Given the description of an element on the screen output the (x, y) to click on. 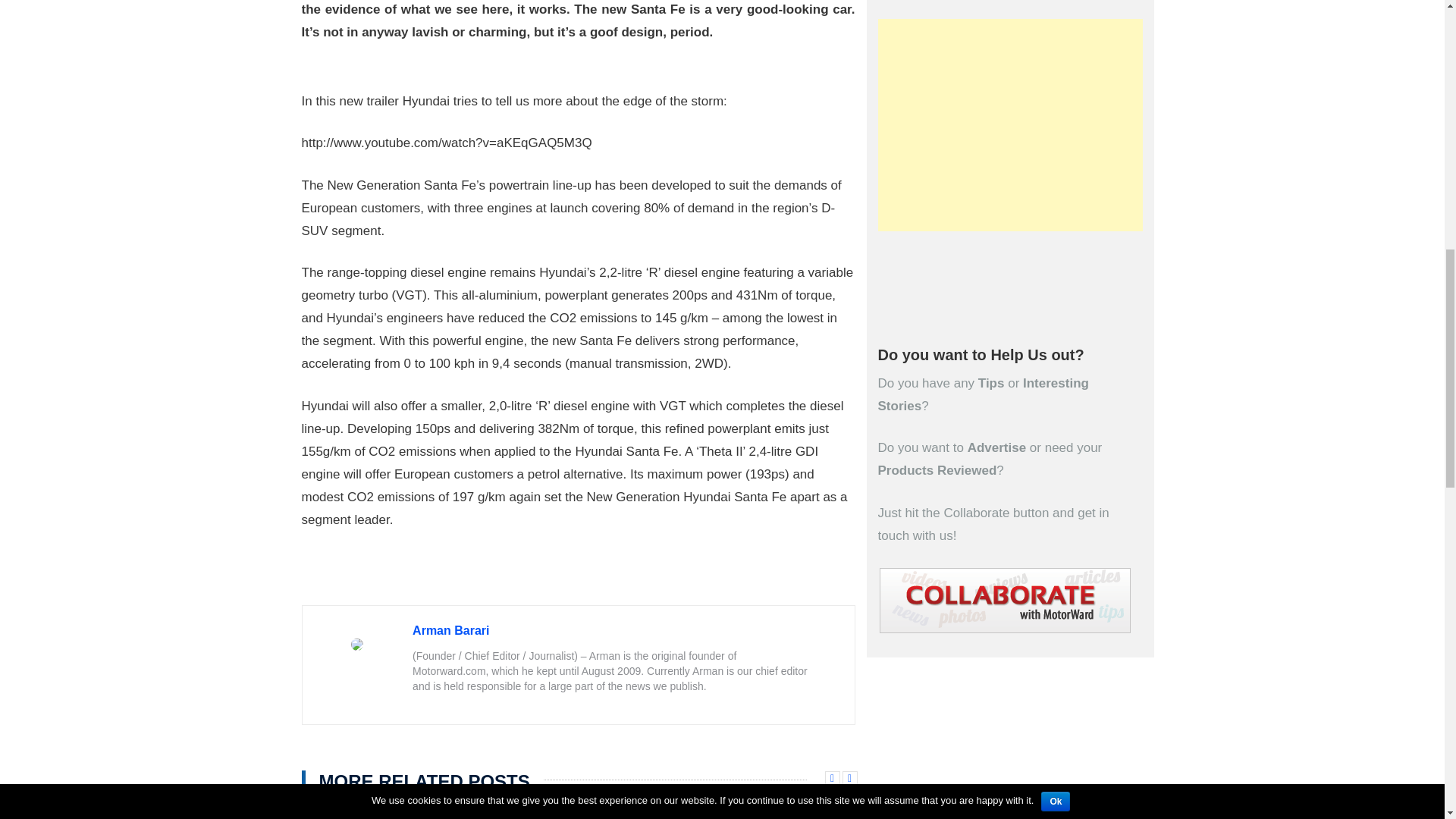
2019 Genesis G70 MSRP 550x360 (507, 809)
Posts by Arman Barari (450, 629)
Advertisement (1009, 124)
All New Hyundai i30 Fastback N 9 550x360 (365, 809)
hyundai i30 5door sep2018 03 1610 550x360 (792, 809)
2019 Hyundai Elantra msrp 550x360 (649, 809)
